Given the description of an element on the screen output the (x, y) to click on. 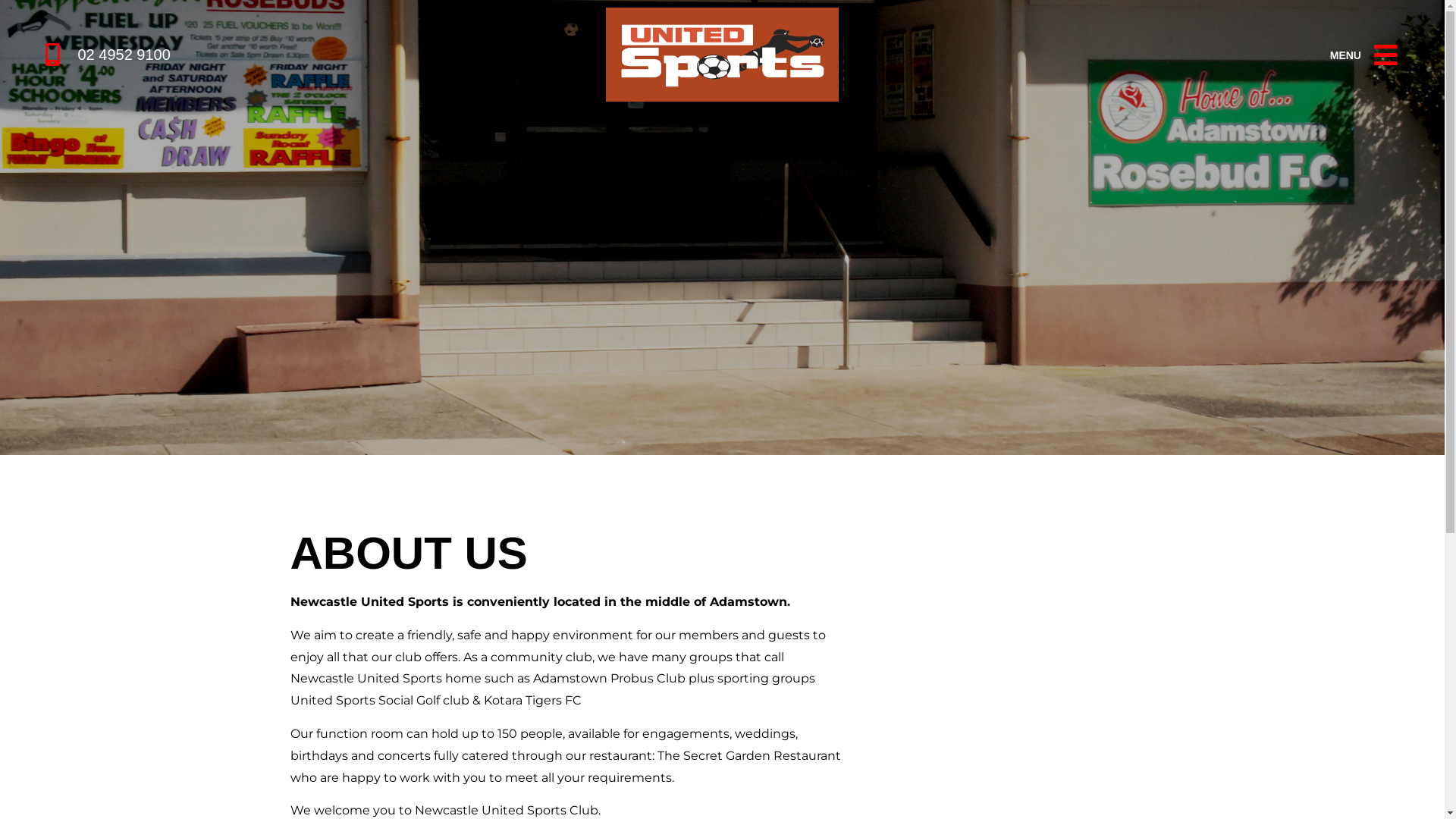
02 4952 9100 Element type: text (259, 54)
MENU Element type: text (1345, 55)
